Given the description of an element on the screen output the (x, y) to click on. 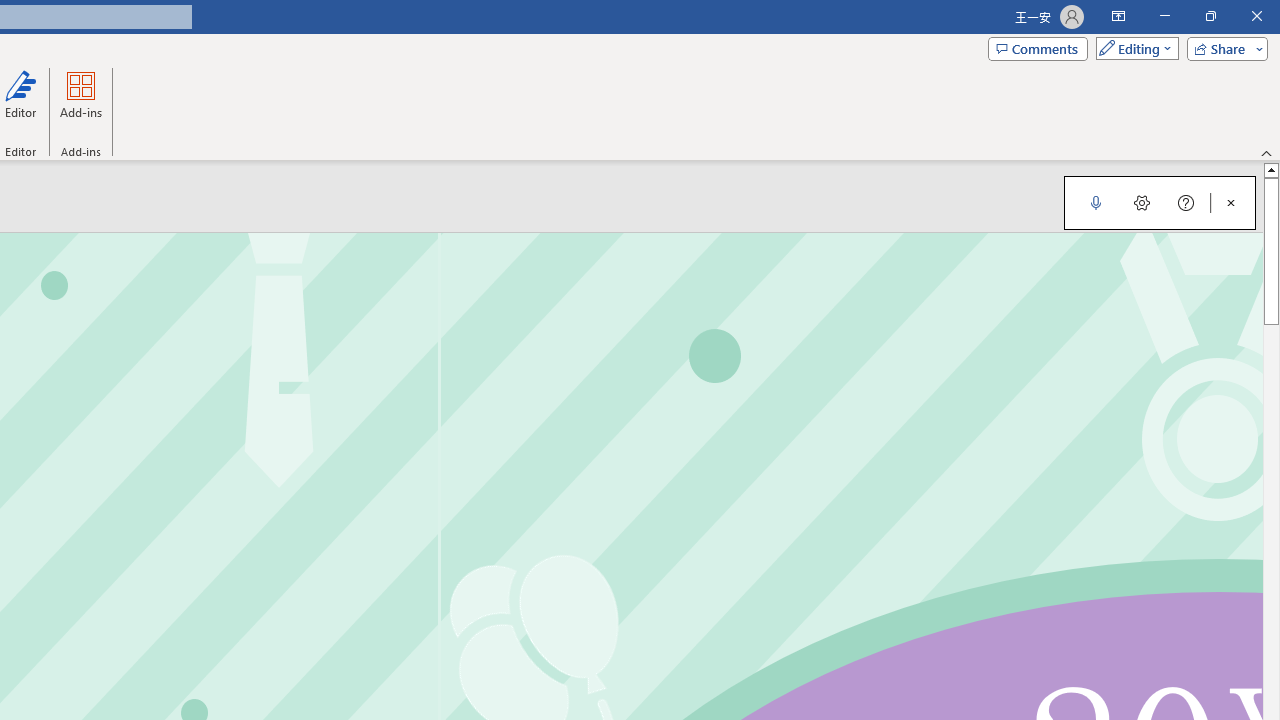
Close Dictation (1231, 202)
Dictation Settings (1142, 202)
Start Dictation (1096, 202)
Mode (1133, 47)
Class: MsoCommandBar (1159, 202)
Line up (1271, 169)
